Given the description of an element on the screen output the (x, y) to click on. 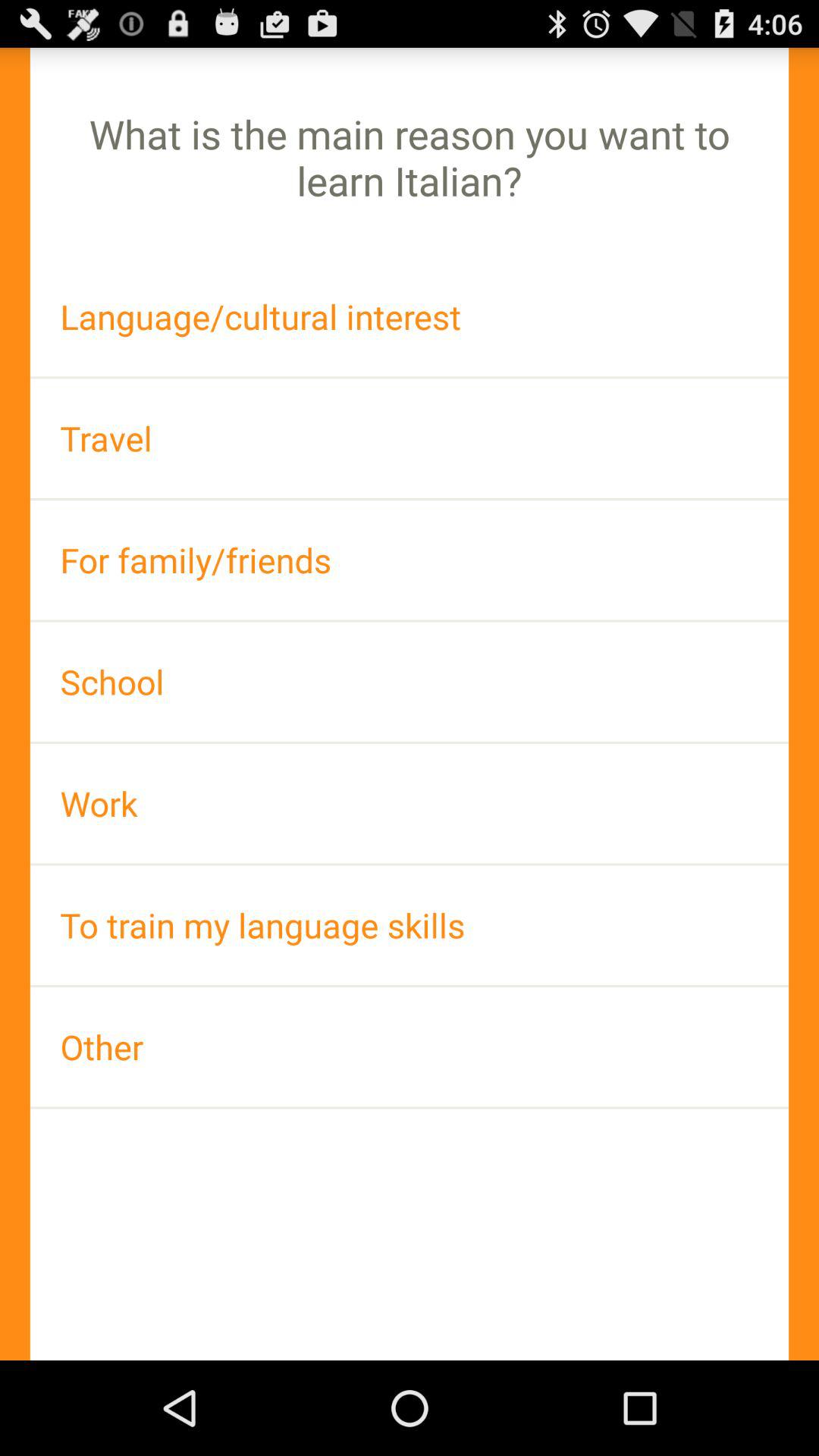
jump until the other (409, 1046)
